Given the description of an element on the screen output the (x, y) to click on. 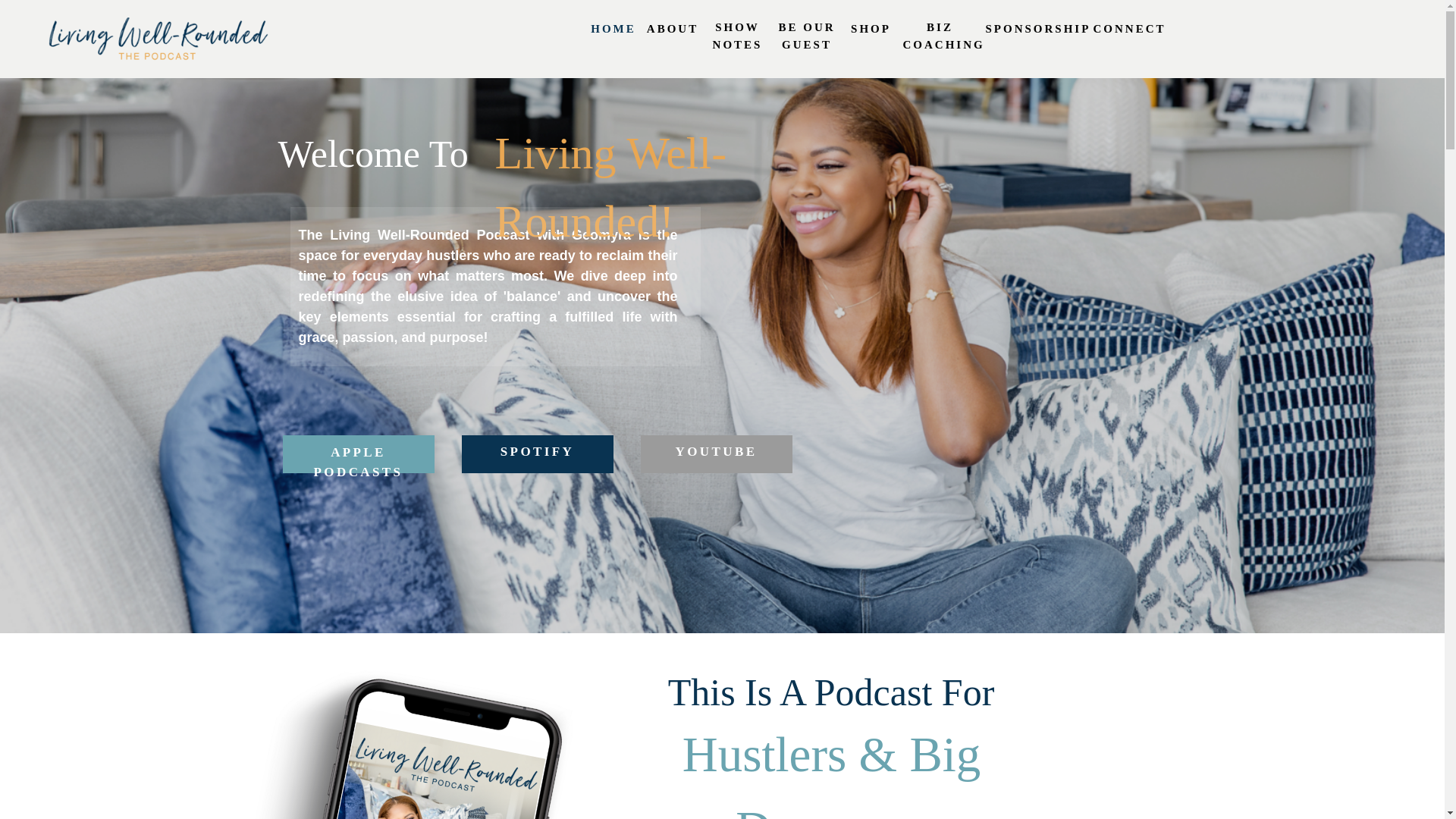
SPOTIFY (537, 453)
CONNECT (1128, 29)
SPONSORSHIP (1035, 29)
BE OUR GUEST (807, 36)
HOME (612, 29)
ABOUT (673, 29)
YOUTUBE (716, 453)
APPLE PODCASTS (357, 454)
BIZ COACHING (939, 36)
SHOP (870, 29)
